Given the description of an element on the screen output the (x, y) to click on. 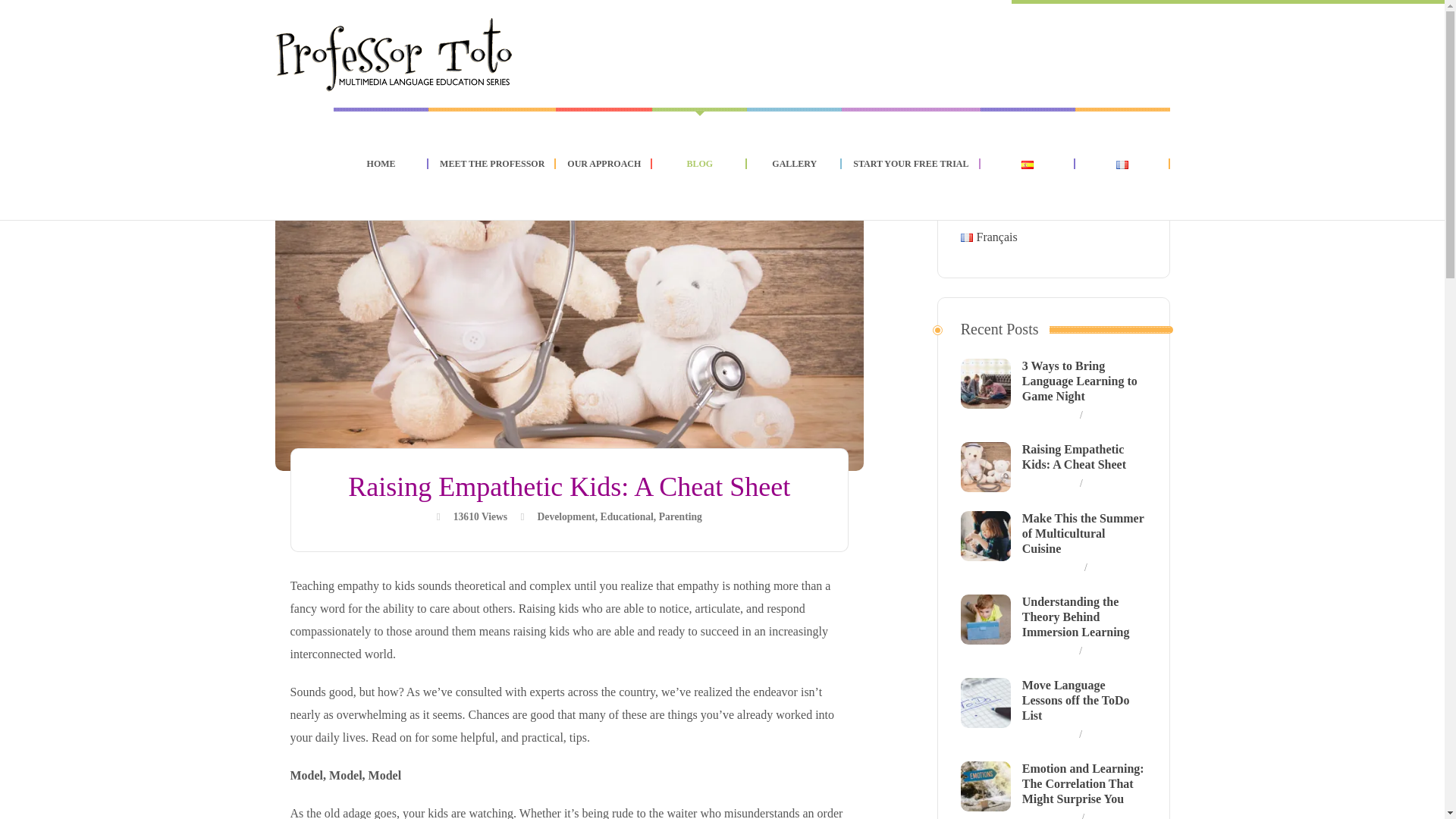
Development (566, 517)
English (986, 200)
View all posts in Educational (626, 517)
3 Ways to Bring Language Learning to Game Night (1079, 380)
MEET THE PROFESSOR (492, 163)
Parenting (680, 517)
View all posts in Development (566, 517)
View all posts in Parenting (680, 517)
START YOUR FREE TRIAL (910, 163)
Educational (626, 517)
Professor Toto (394, 53)
